Given the description of an element on the screen output the (x, y) to click on. 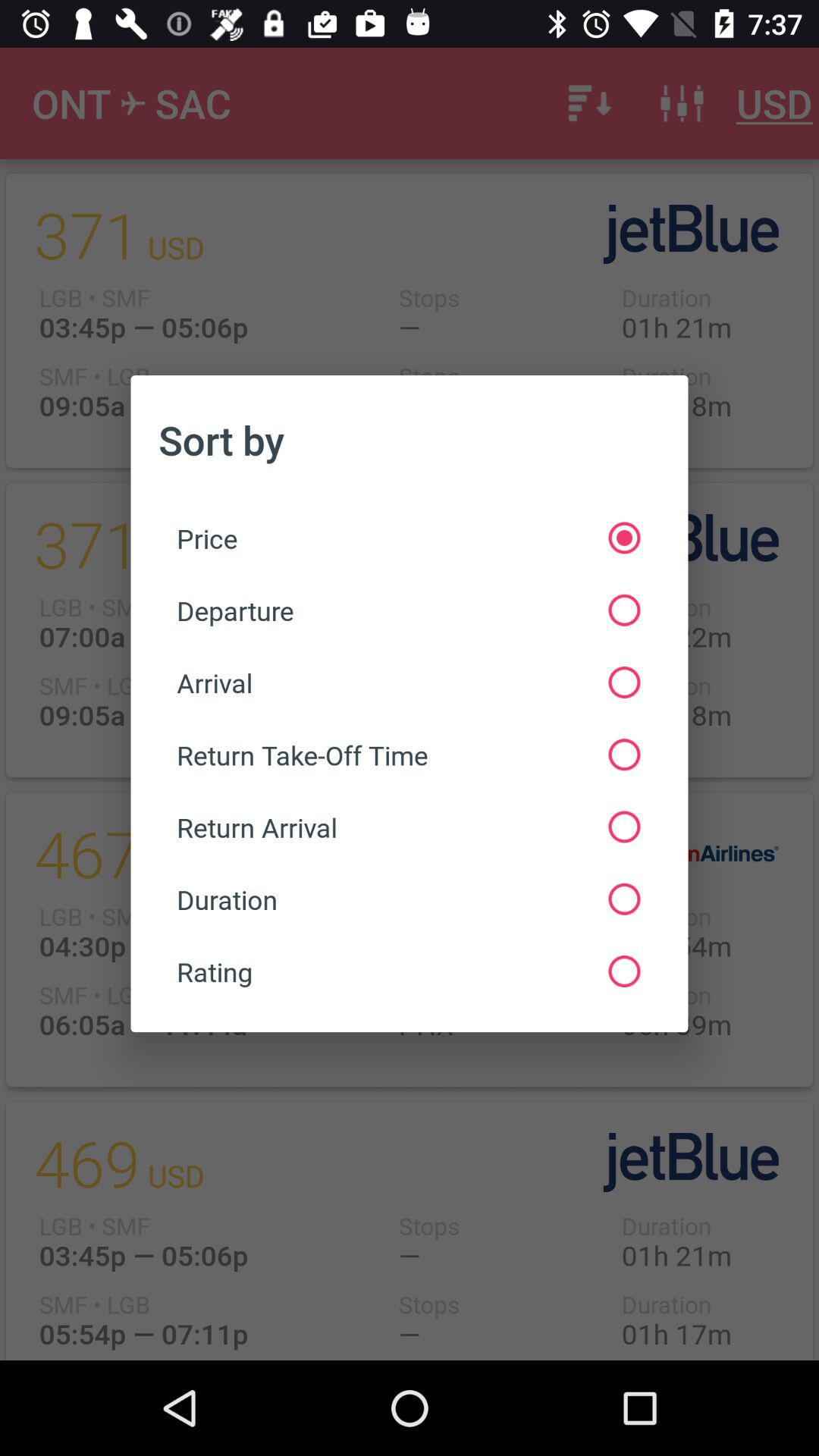
turn on rating (408, 971)
